Given the description of an element on the screen output the (x, y) to click on. 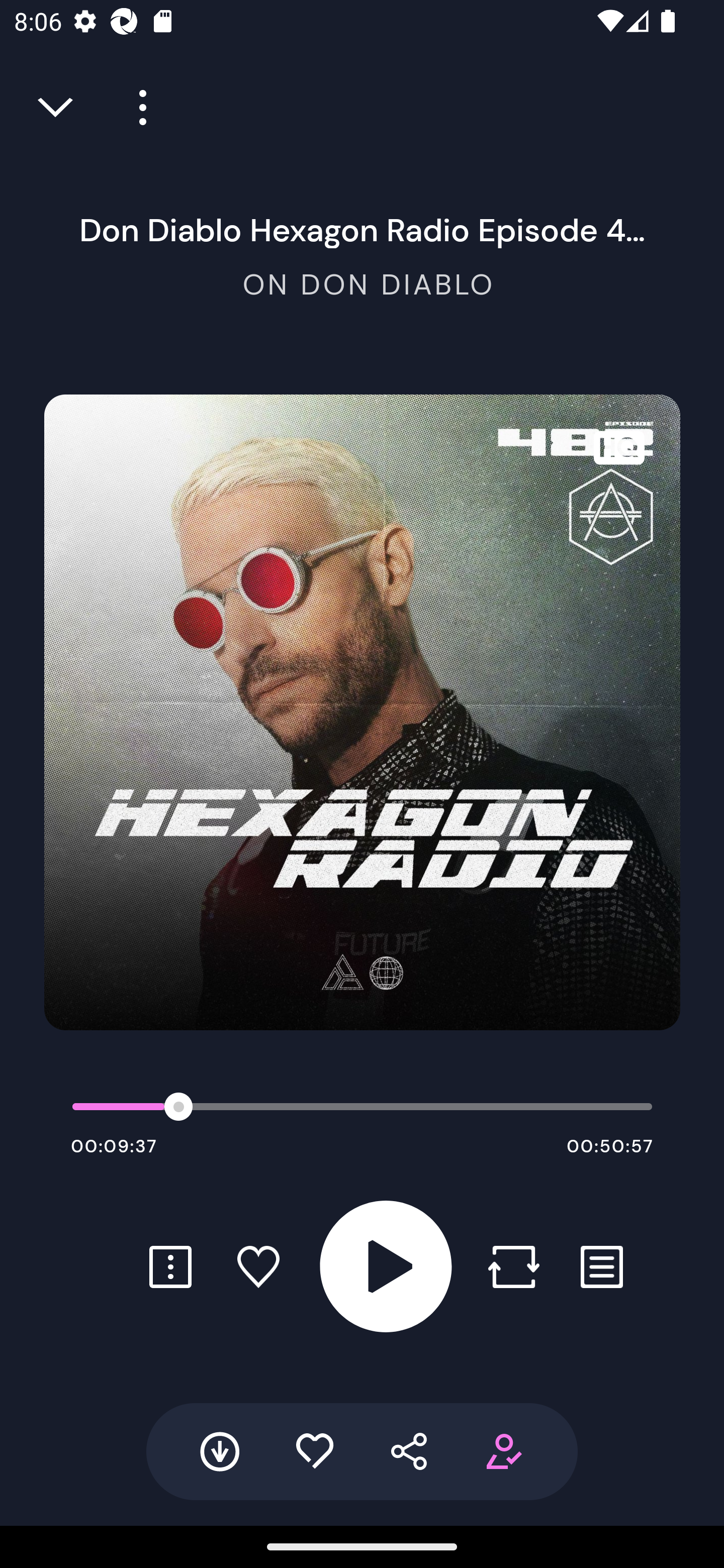
Close full player (57, 107)
Player more options button (136, 107)
Repost button (513, 1266)
